Given the description of an element on the screen output the (x, y) to click on. 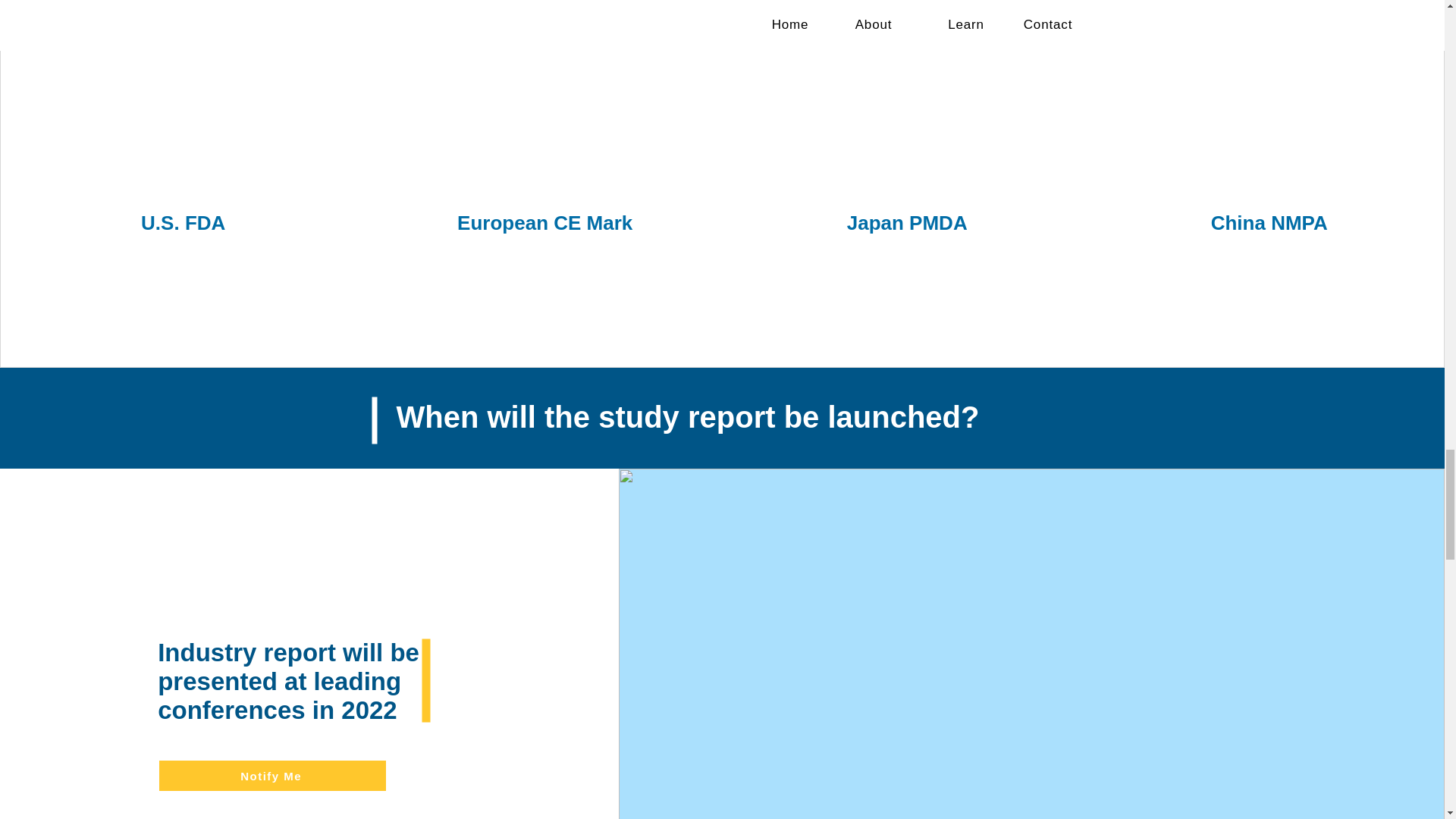
GettyImages-145680711.jpg (906, 105)
Notify Me (271, 775)
GettyImages-535587703.jpg (179, 102)
GettyImages-145680711.jpg (1269, 105)
GettyImages-124893619.jpg (544, 102)
